Given the description of an element on the screen output the (x, y) to click on. 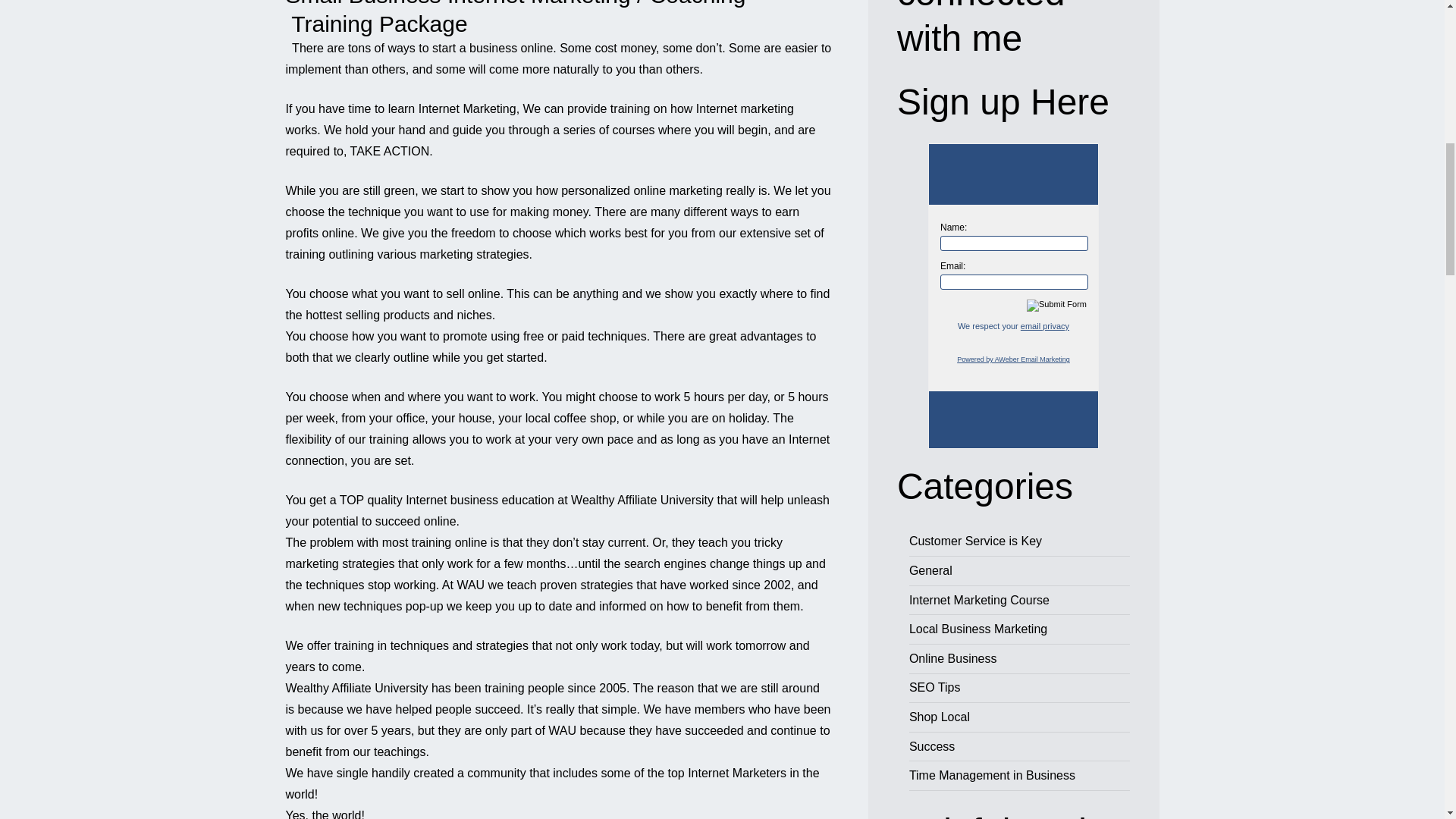
General (930, 570)
AWeber Email Marketing (1013, 359)
Internet Marketing Course (978, 599)
Privacy Policy (1044, 325)
Local Business Marketing (977, 628)
Success (931, 746)
Powered by AWeber Email Marketing (1013, 359)
Online Business (952, 658)
Time Management in Business (991, 775)
Shop Local (938, 716)
Customer Service is Key (975, 540)
SEO Tips (934, 686)
email privacy (1044, 325)
